Given the description of an element on the screen output the (x, y) to click on. 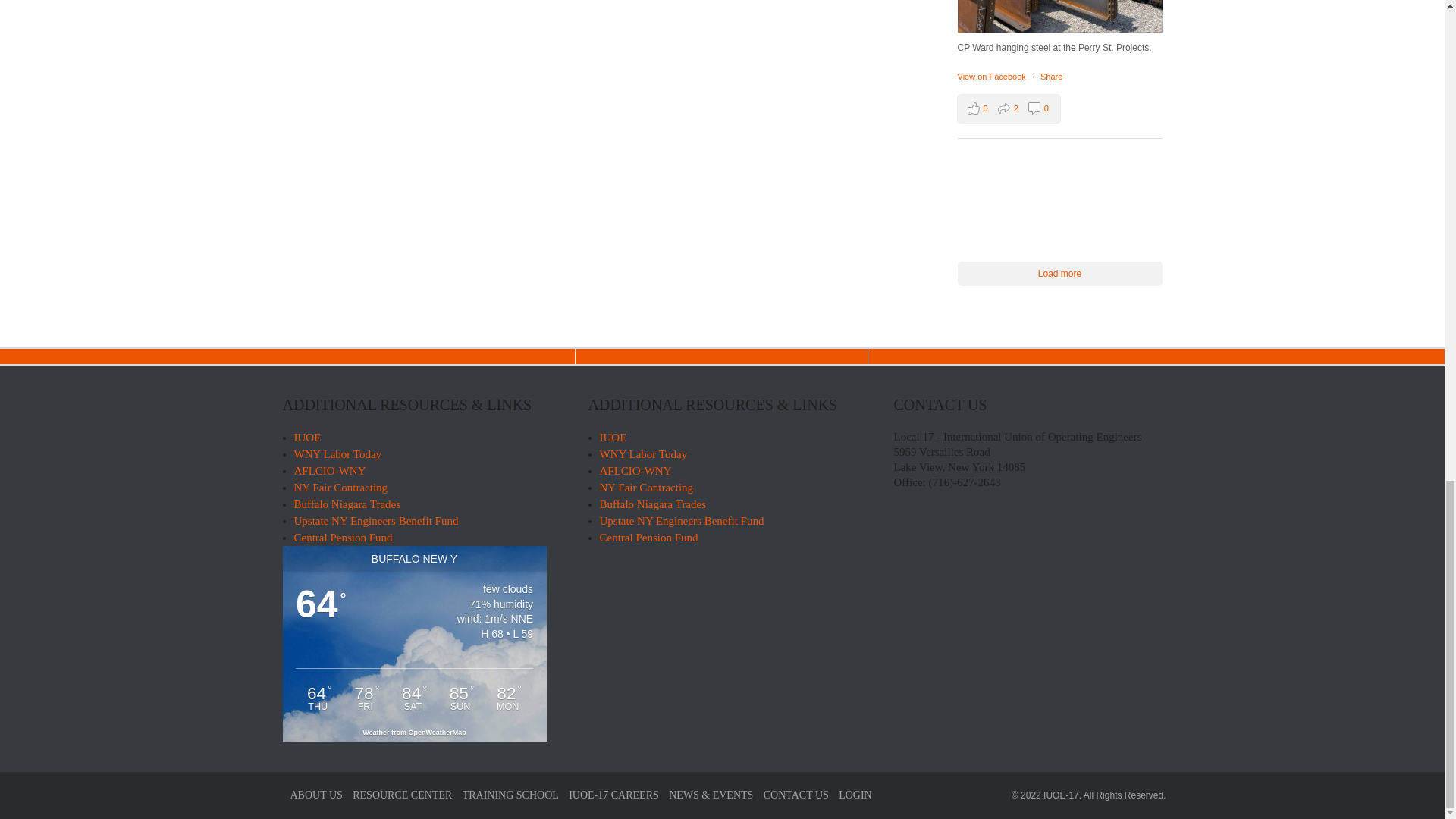
Likebox Content (1058, 197)
Share (1051, 76)
View on Facebook (991, 76)
